Given the description of an element on the screen output the (x, y) to click on. 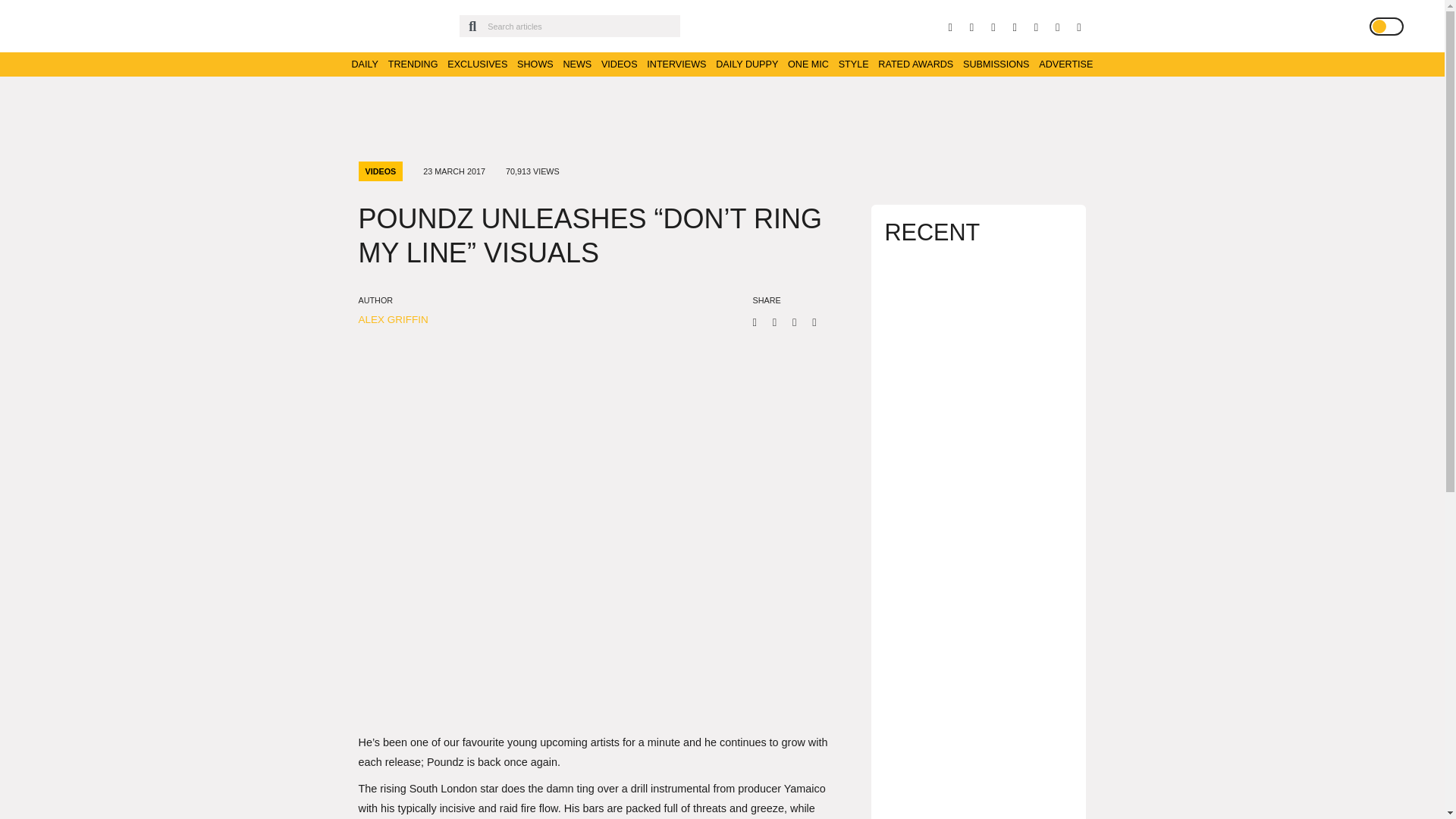
INTERVIEWS (676, 63)
NEWS (576, 63)
ADVERTISE (1066, 63)
RATED AWARDS (915, 63)
EXCLUSIVES (476, 63)
DAILY DUPPY (746, 63)
SUBMISSIONS (995, 63)
SHOWS (534, 63)
ONE MIC (807, 63)
